Given the description of an element on the screen output the (x, y) to click on. 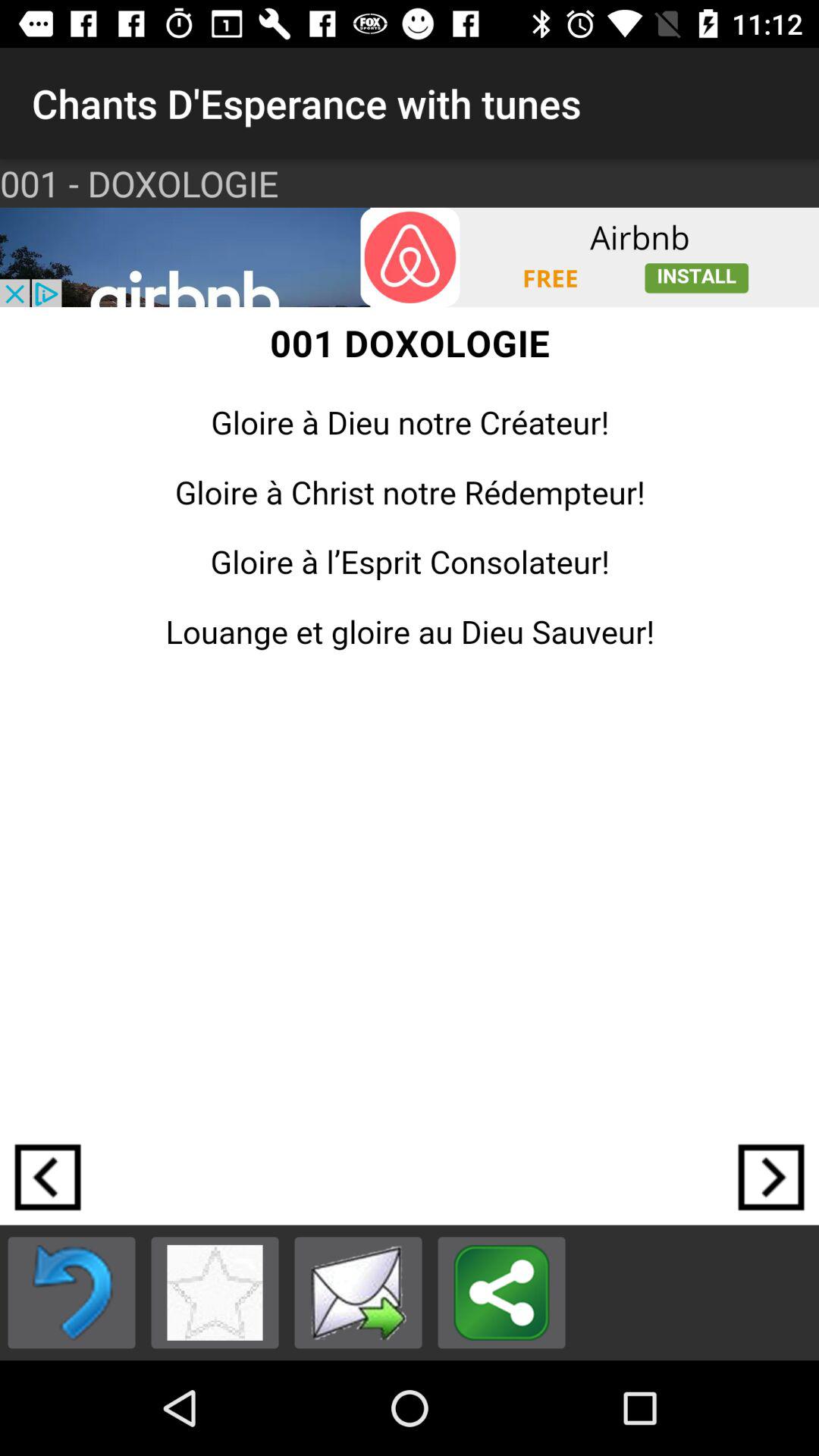
follow (771, 1177)
